Given the description of an element on the screen output the (x, y) to click on. 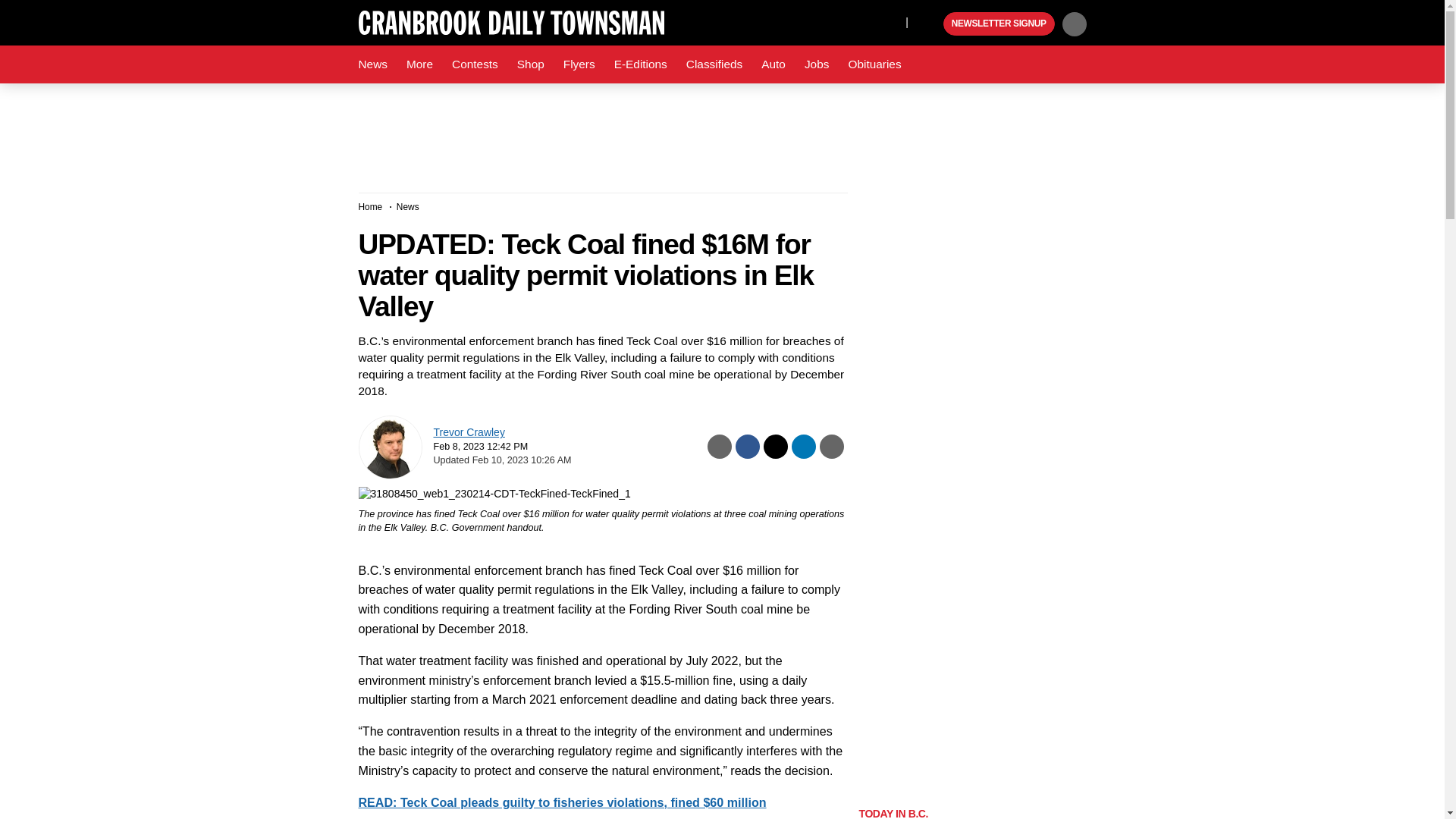
Play (929, 24)
X (889, 21)
Black Press Media (929, 24)
NEWSLETTER SIGNUP (998, 24)
News (372, 64)
